Given the description of an element on the screen output the (x, y) to click on. 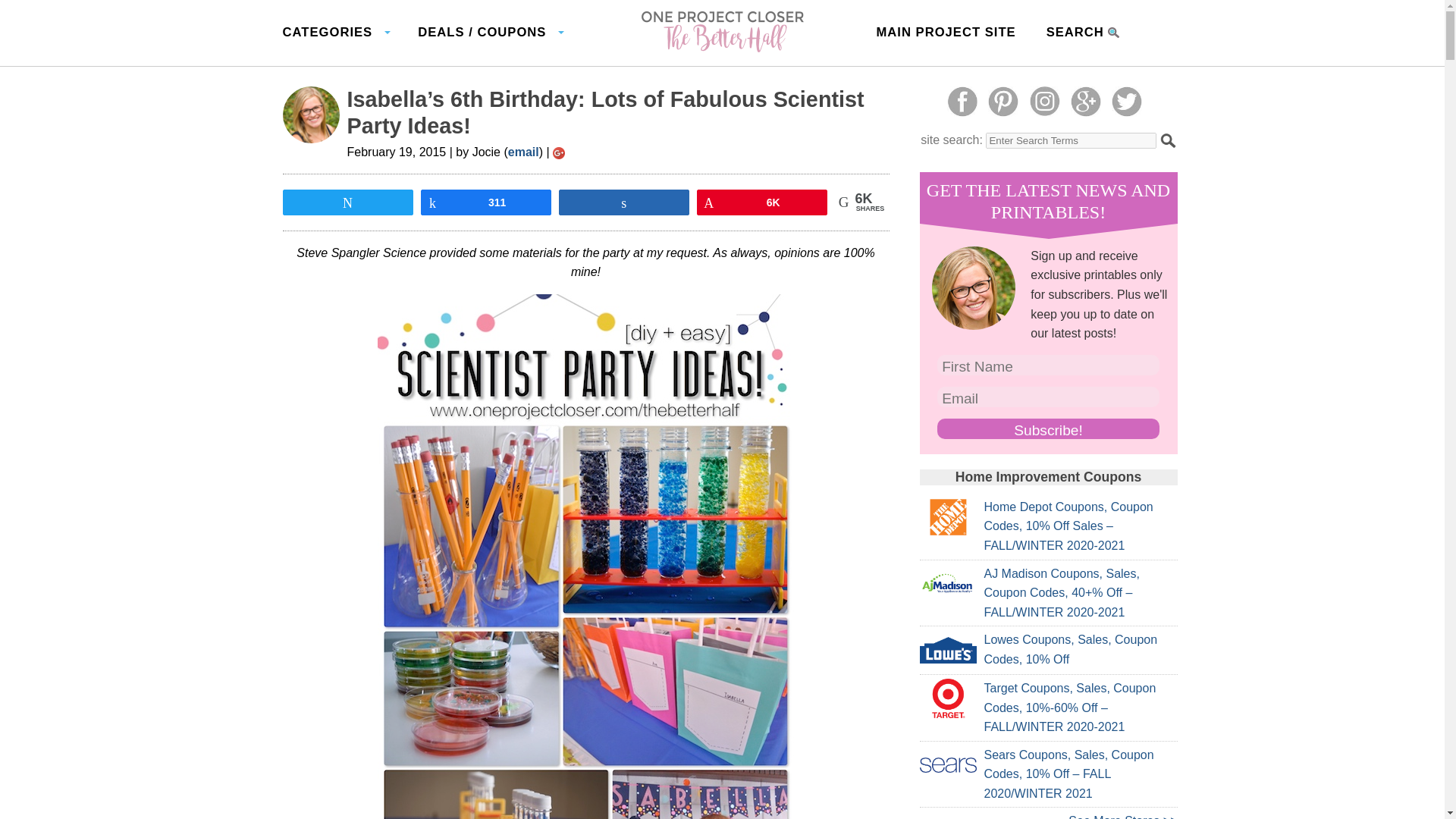
SEARCH (1082, 32)
email (523, 151)
MAIN PROJECT SITE (945, 32)
Subscribe! (1048, 428)
311 (486, 201)
6K (762, 201)
Visit our Home Improvement Coupons Page (1122, 816)
CATEGORIES (334, 32)
